Given the description of an element on the screen output the (x, y) to click on. 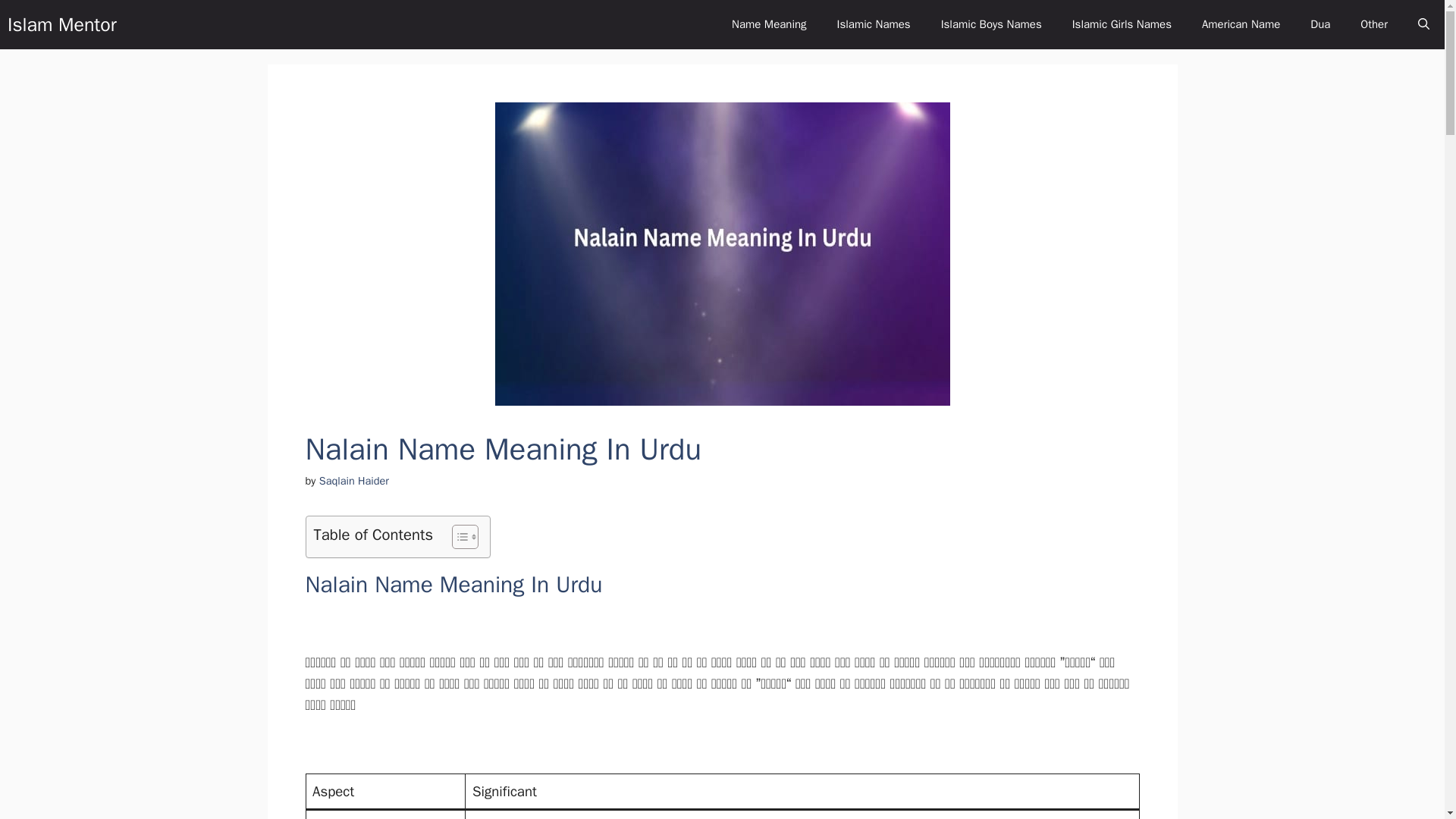
Islam Mentor (61, 24)
Islamic Girls Names (1121, 24)
View all posts by Saqlain Haider (353, 480)
Name Meaning (769, 24)
Saqlain Haider (353, 480)
Islamic Names (874, 24)
American Name (1240, 24)
Islamic Boys Names (991, 24)
Other (1374, 24)
Dua (1320, 24)
